Given the description of an element on the screen output the (x, y) to click on. 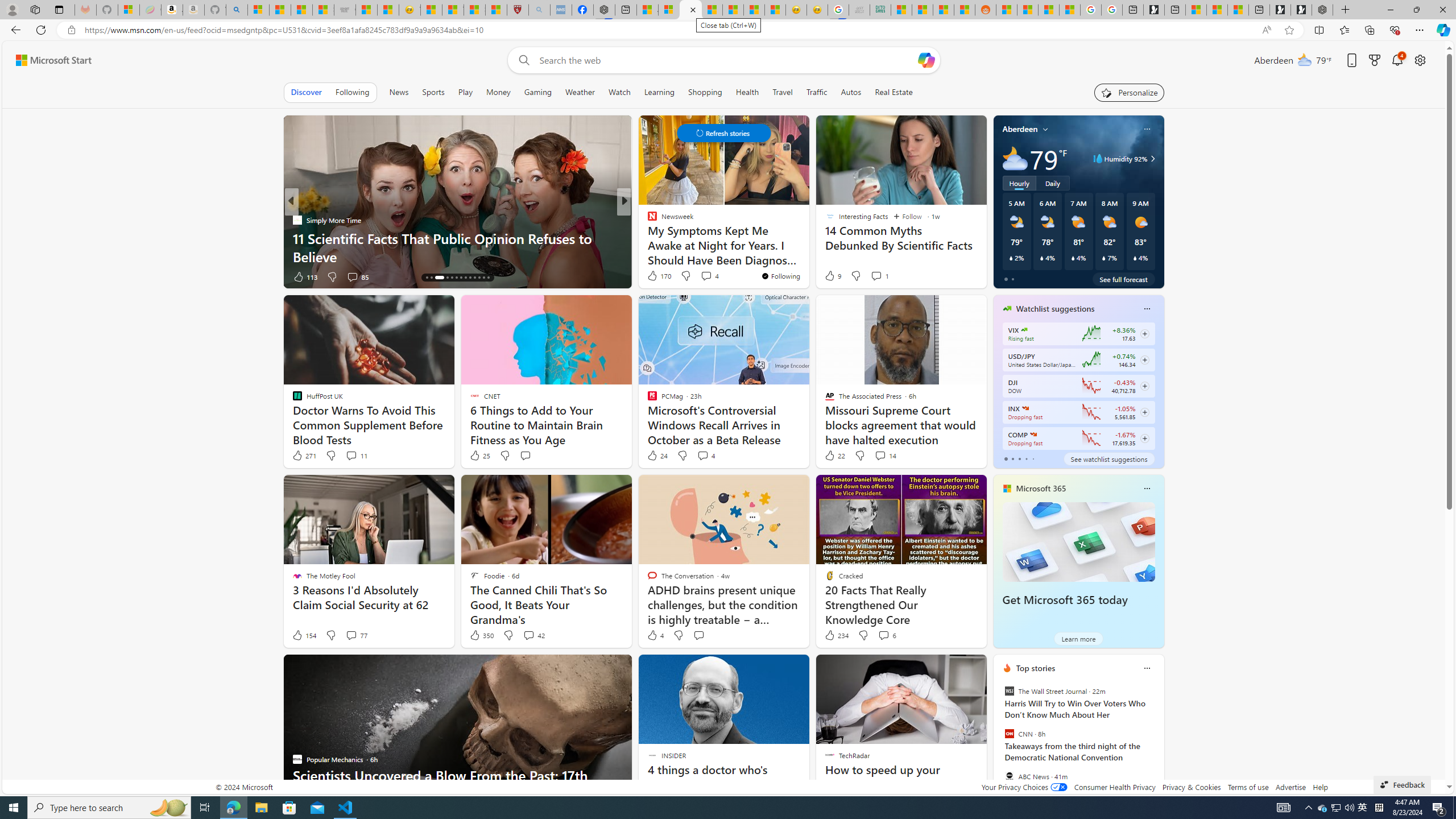
R******* | Trusted Community Engagement and Contributions (1006, 9)
View comments 6 Comment (887, 634)
Money (498, 92)
See full forecast (1123, 278)
These 3 Stocks Pay You More Than 5% to Own Them (1238, 9)
154 Like (303, 634)
Million Dollar Sense (647, 238)
113 Like (304, 276)
